Given the description of an element on the screen output the (x, y) to click on. 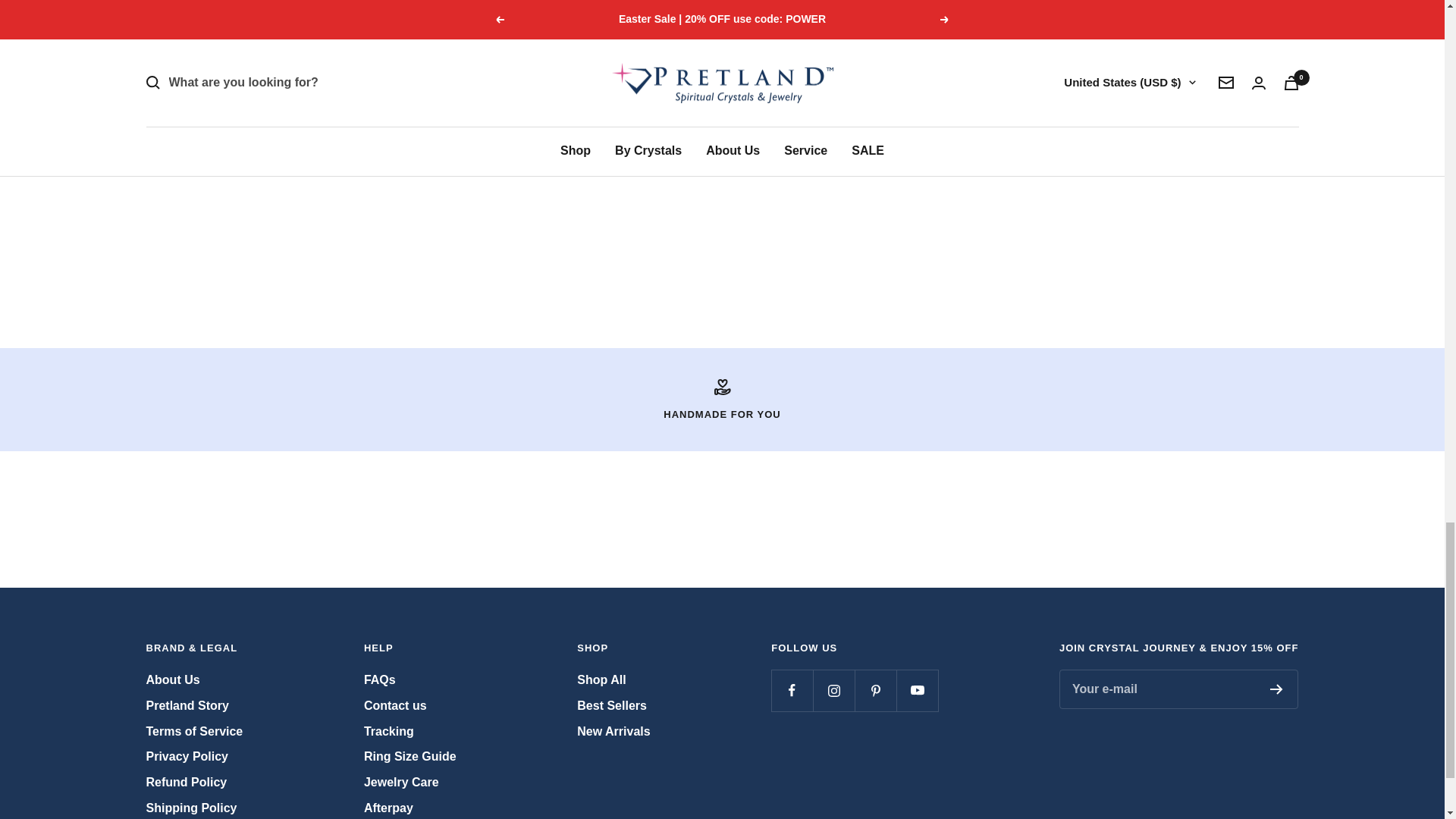
HANDMADE FOR YOU (721, 399)
Register (1275, 688)
